Given the description of an element on the screen output the (x, y) to click on. 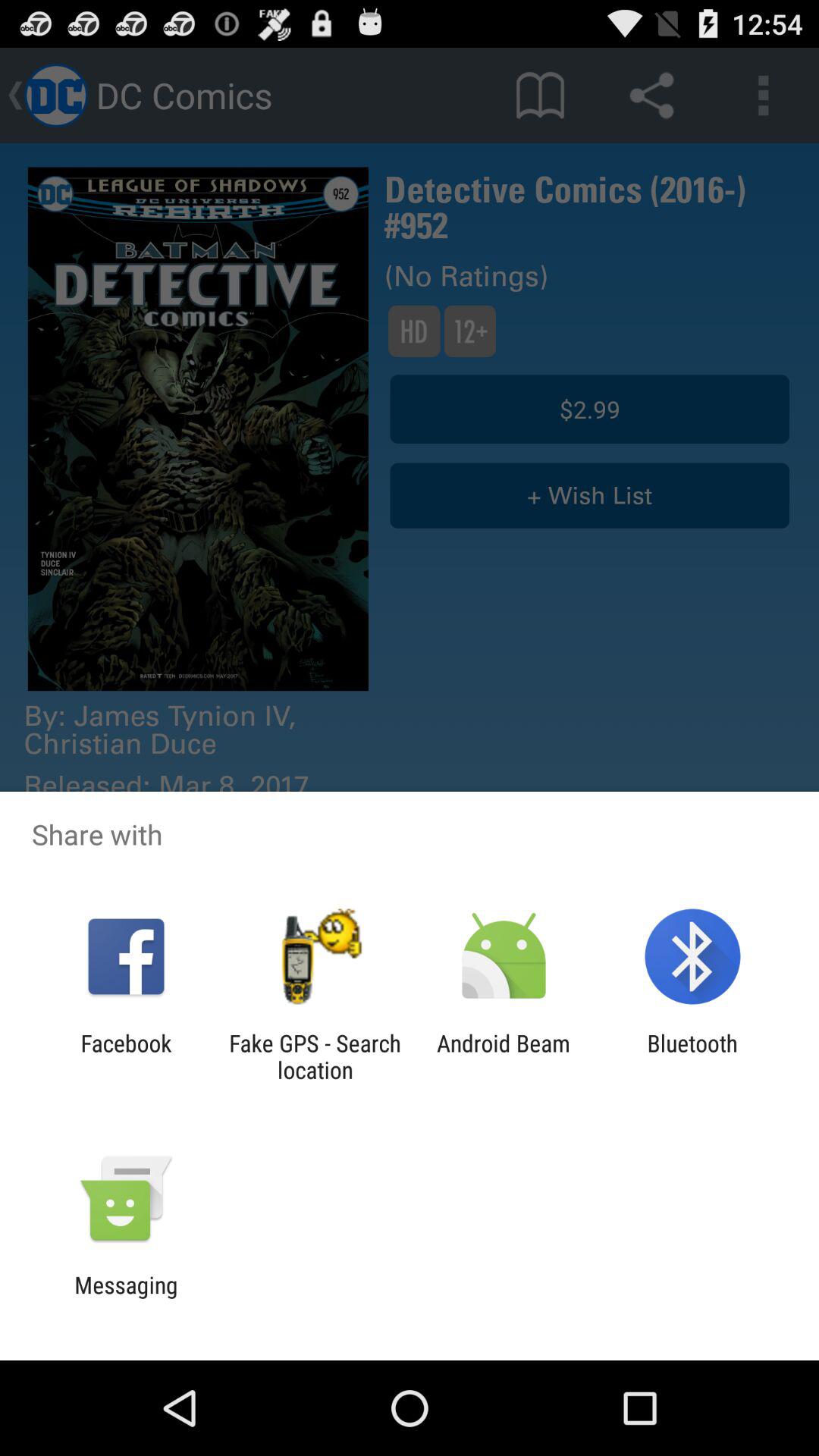
tap item to the left of the bluetooth app (503, 1056)
